Given the description of an element on the screen output the (x, y) to click on. 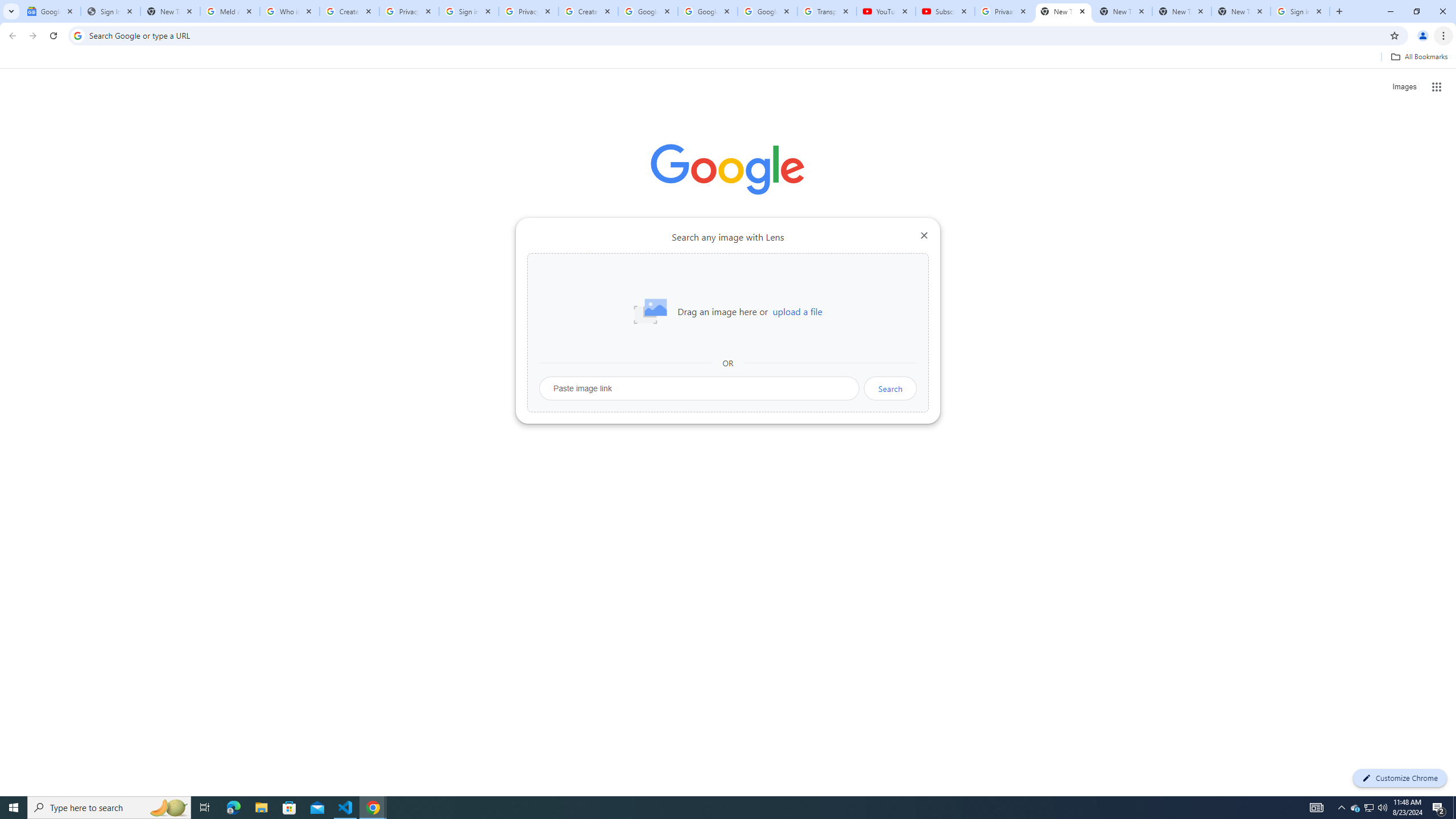
Create your Google Account (349, 11)
